Given the description of an element on the screen output the (x, y) to click on. 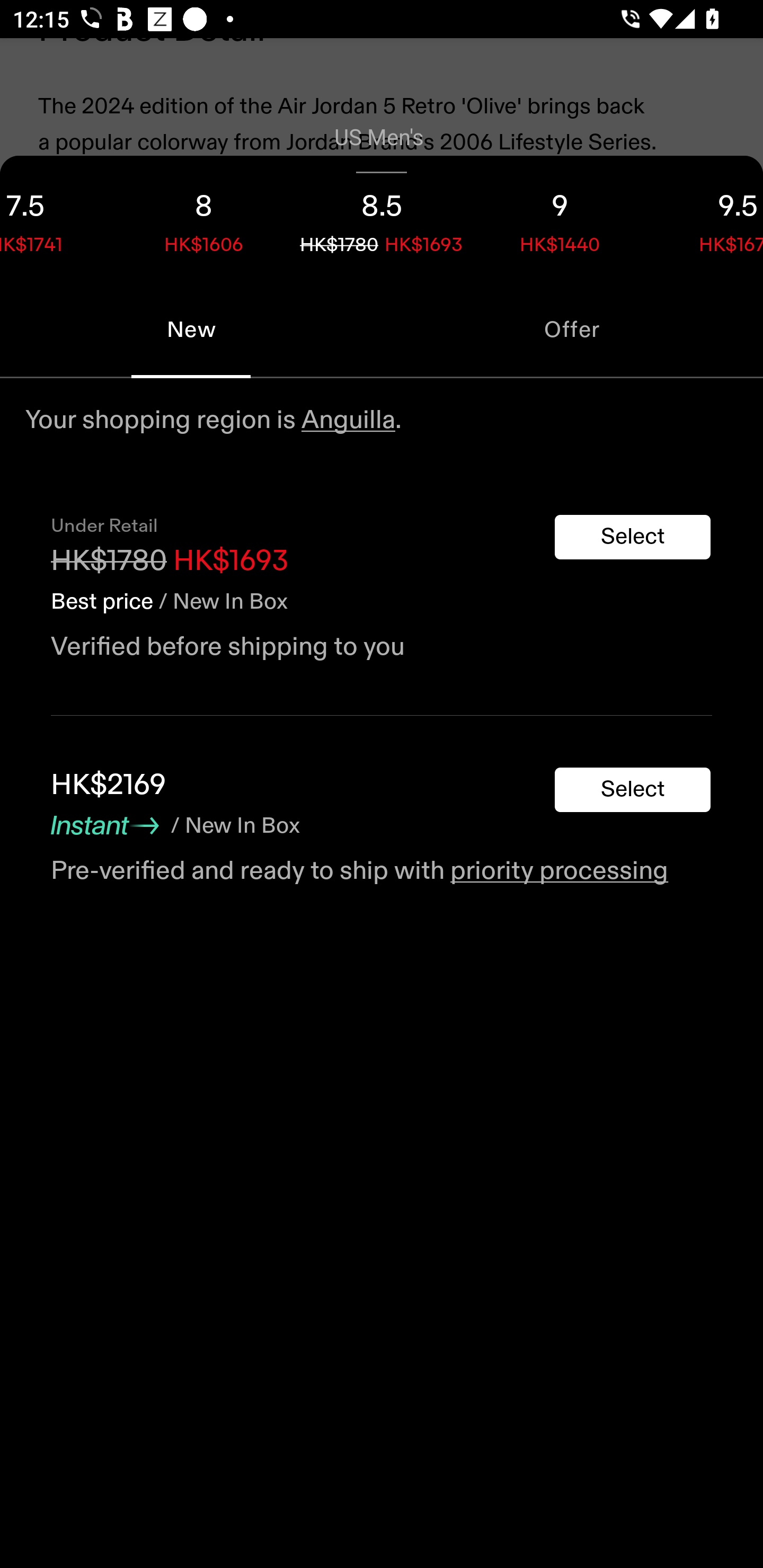
7.5 HK$1741 (57, 218)
8 HK$1606 (203, 218)
8.5 HK$1780 HK$1693 (381, 218)
9 HK$1440 (559, 218)
9.5 HK$1670 (705, 218)
Offer (572, 329)
Select (632, 536)
HK$2169 (108, 785)
Select (632, 789)
